Given the description of an element on the screen output the (x, y) to click on. 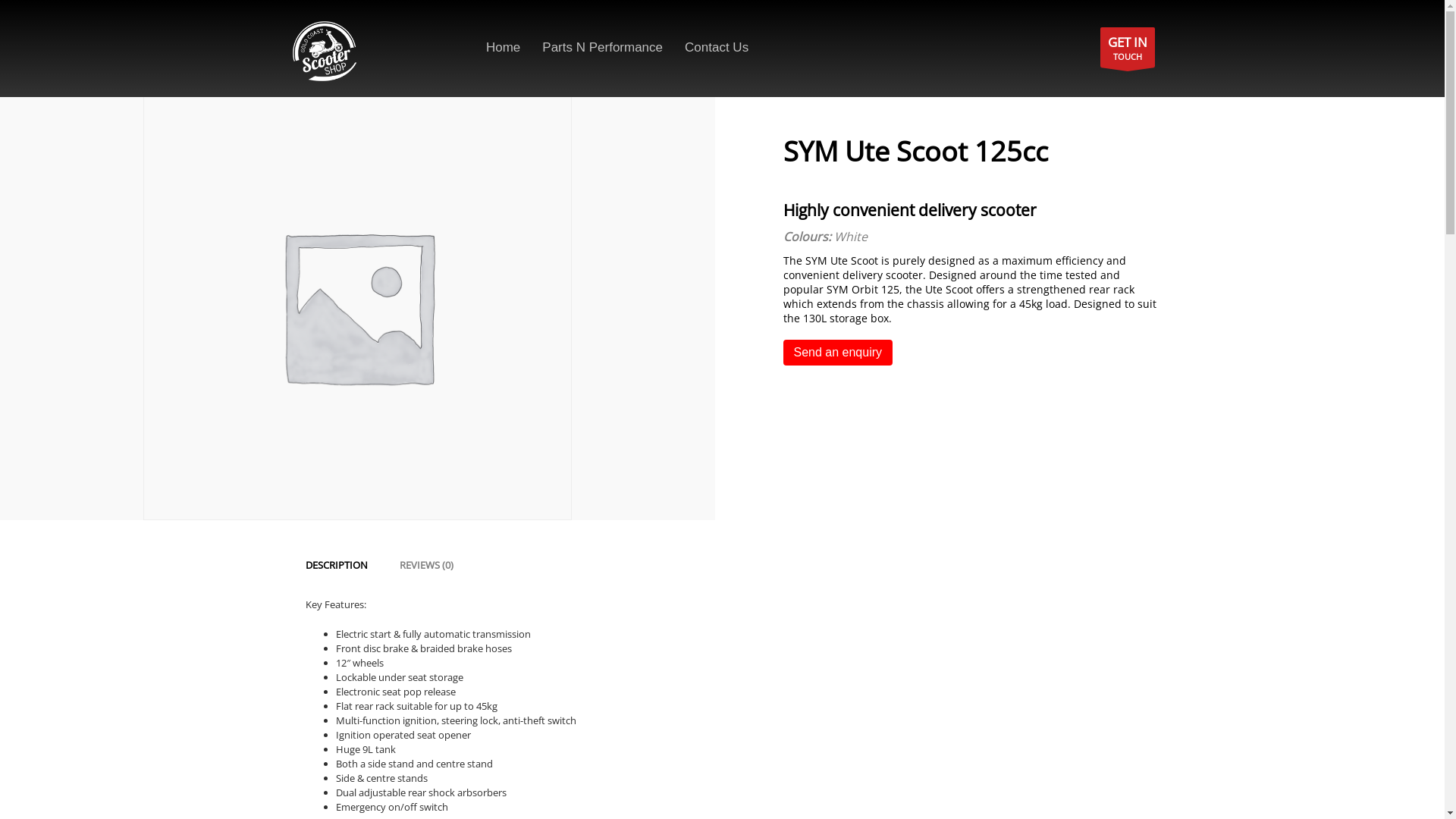
REVIEWS (0) Element type: text (425, 564)
Send an enquiry Element type: text (837, 362)
Contact Us Element type: text (716, 47)
GET IN
TOUCH Element type: text (1126, 47)
Send an enquiry Element type: text (837, 352)
Parts N Performance Element type: text (602, 47)
Scooter Servicing and Mechanical Gold Coast Element type: hover (323, 50)
DESCRIPTION Element type: text (335, 564)
Home Element type: text (502, 47)
